Given the description of an element on the screen output the (x, y) to click on. 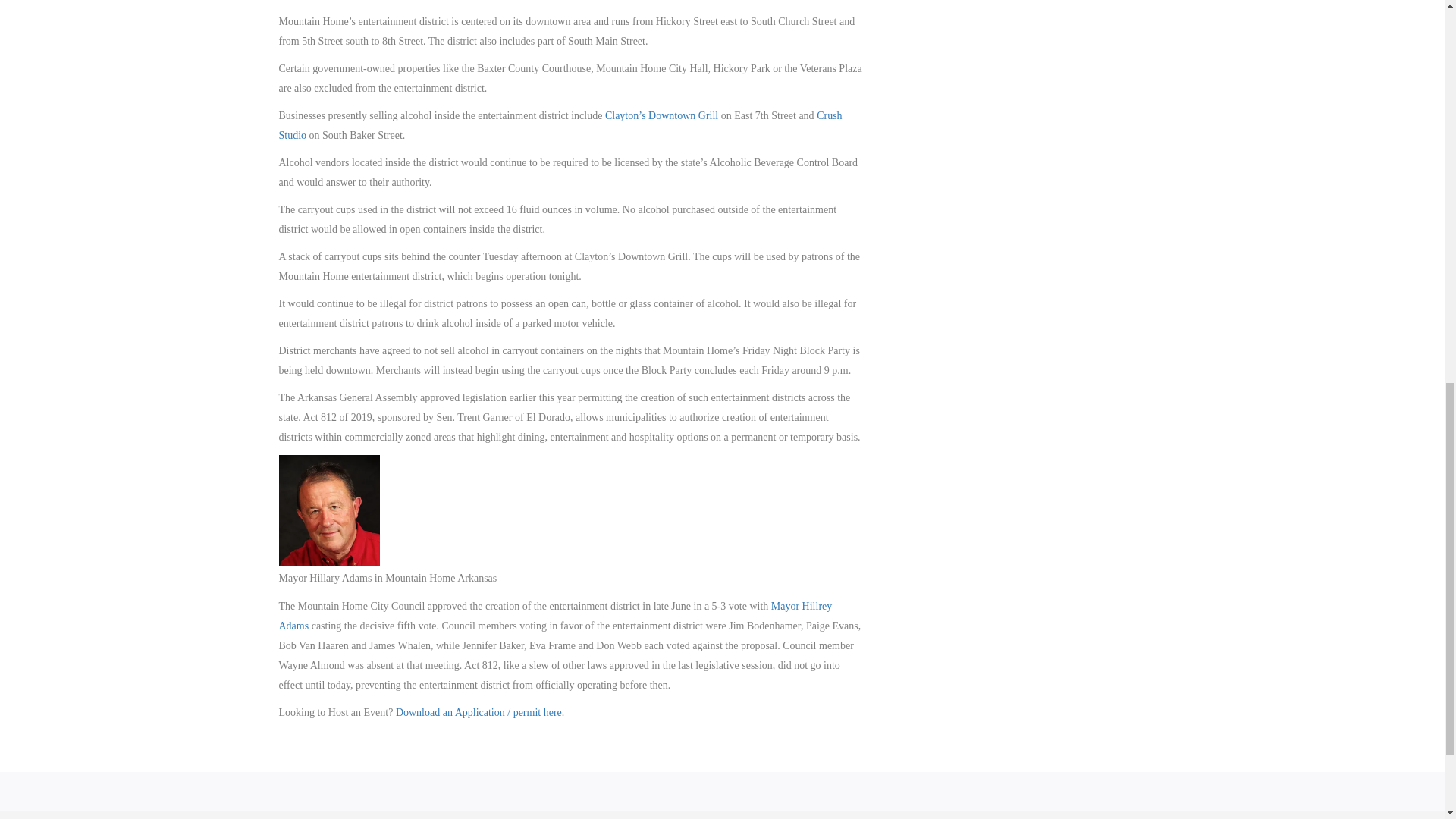
Crush Studio (561, 124)
Mayor Hillrey Adams (555, 615)
